Given the description of an element on the screen output the (x, y) to click on. 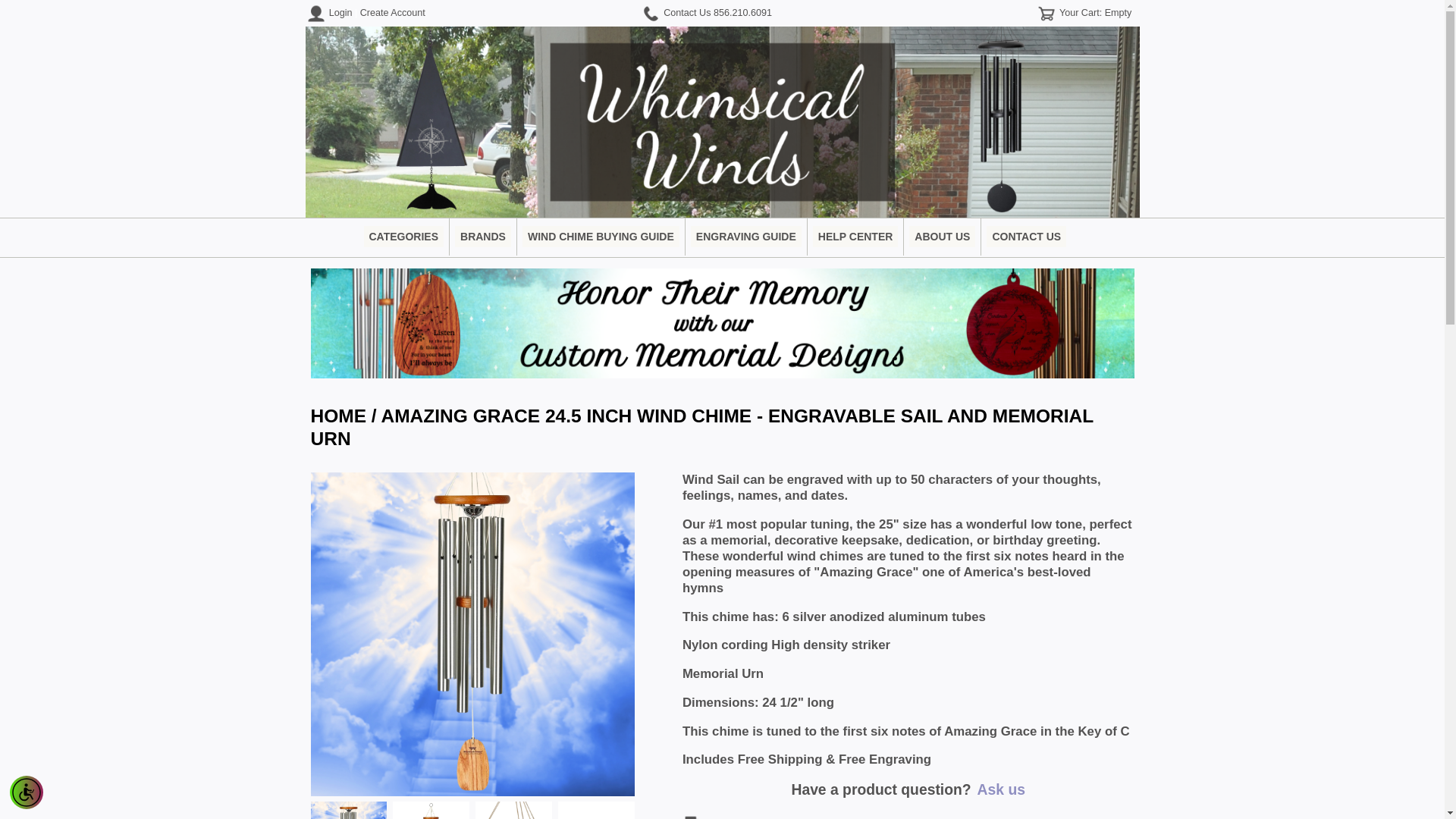
Ask us (1000, 789)
Accessibility Menu (26, 792)
HOME (338, 415)
Home (338, 415)
